Given the description of an element on the screen output the (x, y) to click on. 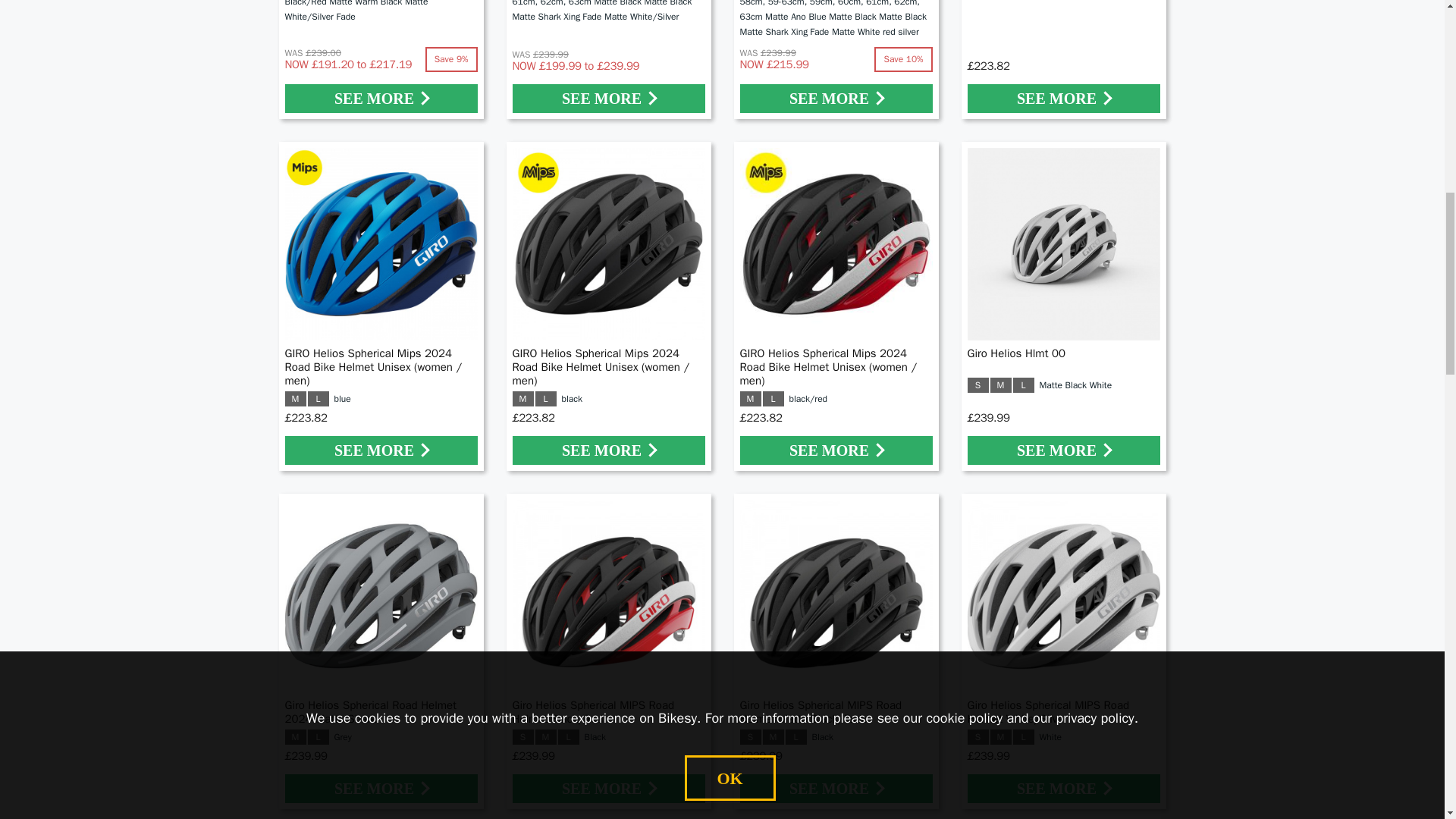
Giro Helios Spherical Road Helmet Medium 55-59cm (836, 59)
Giro Helios Spherical Road Helmet (381, 59)
Giro Helios Spherical Road Helmet (608, 59)
